Given the description of an element on the screen output the (x, y) to click on. 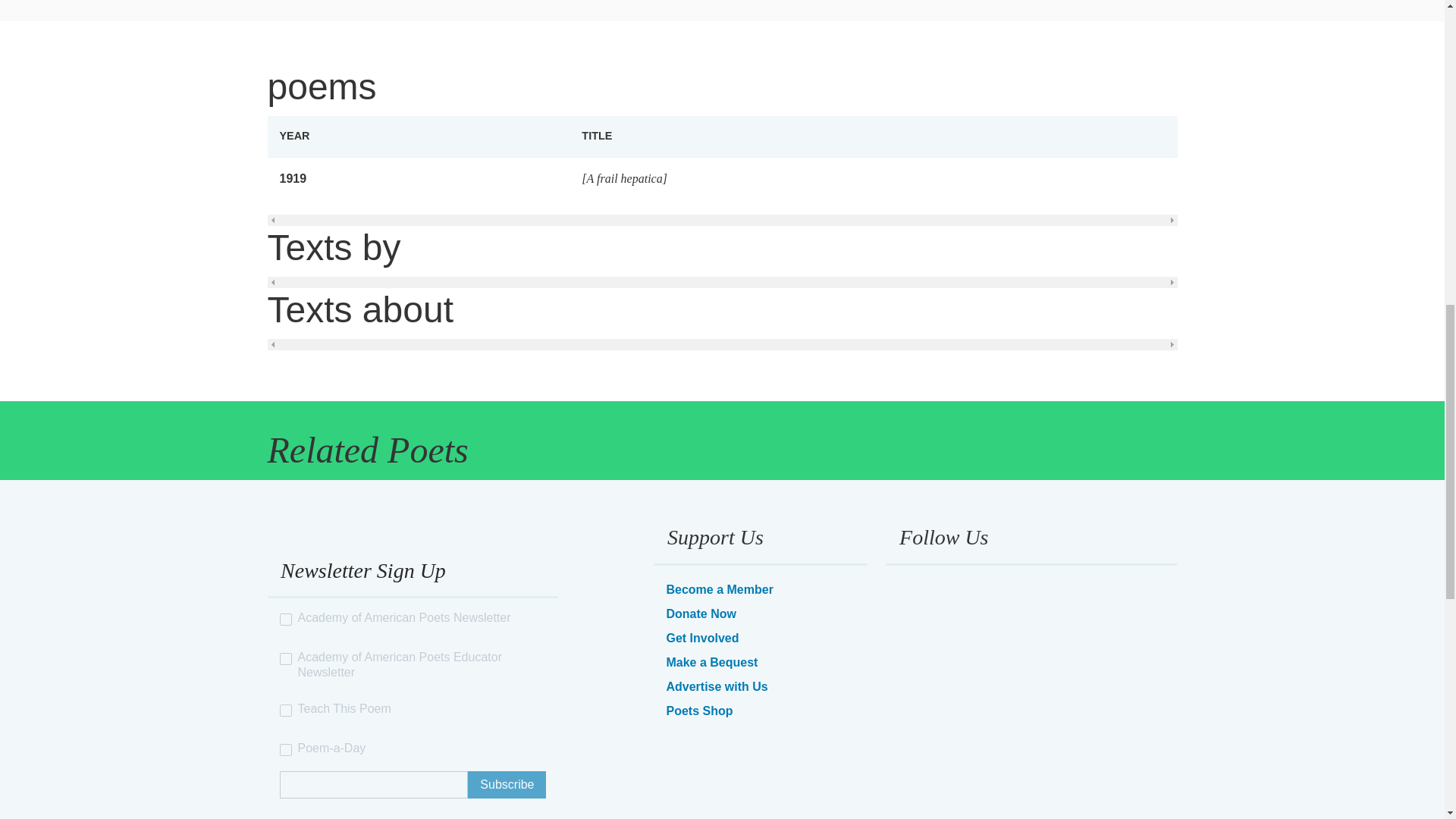
Become a Member (719, 589)
Donate Now (700, 613)
Get Involved (701, 637)
Subscribe (506, 784)
Tumblr (991, 589)
Subscribe (506, 784)
Poets Shop (698, 710)
Facebook (909, 589)
Twitter (949, 589)
Advertise with Us (716, 686)
Make a Bequest (711, 662)
